Given the description of an element on the screen output the (x, y) to click on. 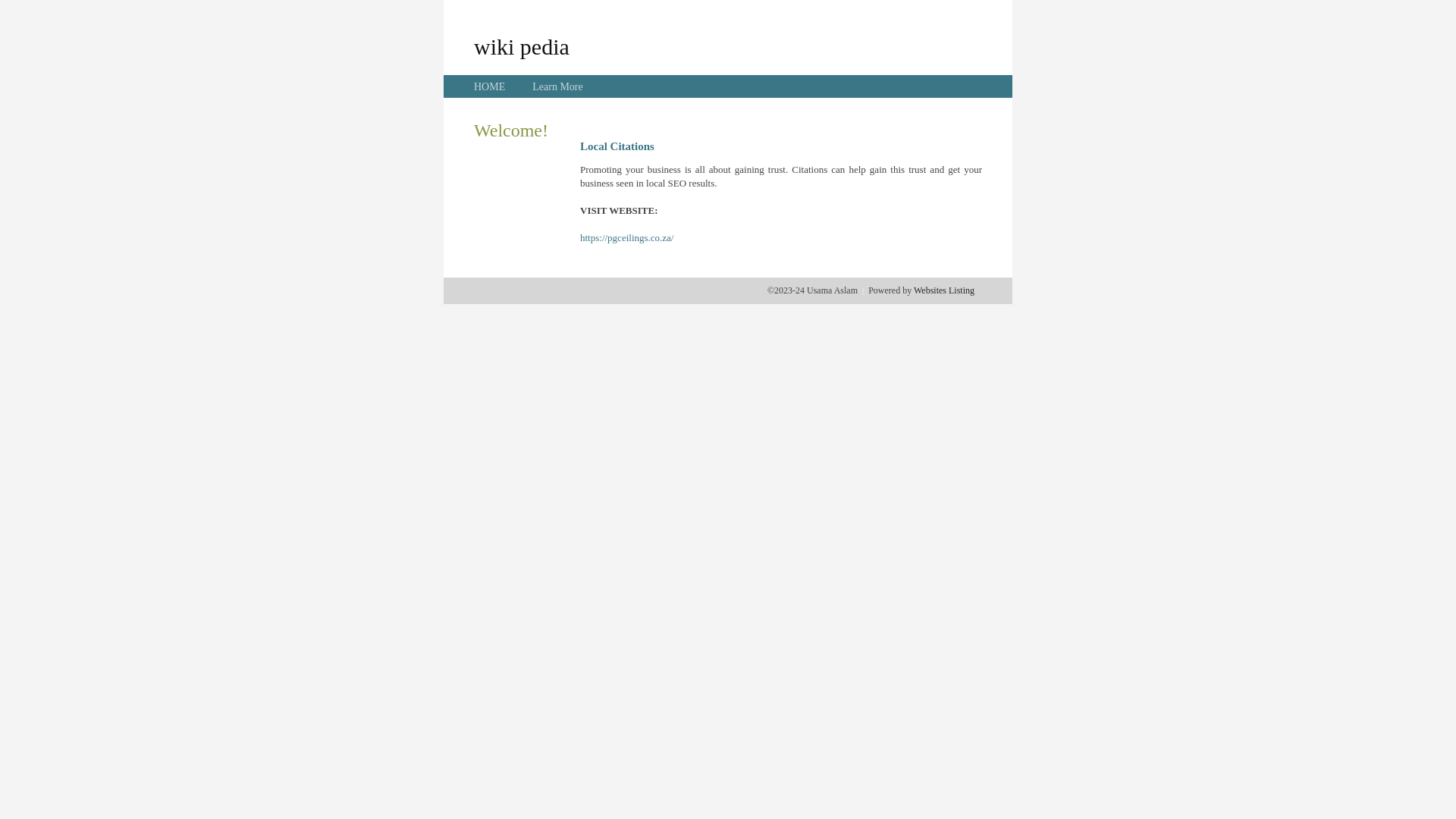
wiki pedia Element type: text (521, 46)
HOME Element type: text (489, 86)
Learn More Element type: text (557, 86)
Websites Listing Element type: text (943, 290)
https://pgceilings.co.za/ Element type: text (626, 237)
